Given the description of an element on the screen output the (x, y) to click on. 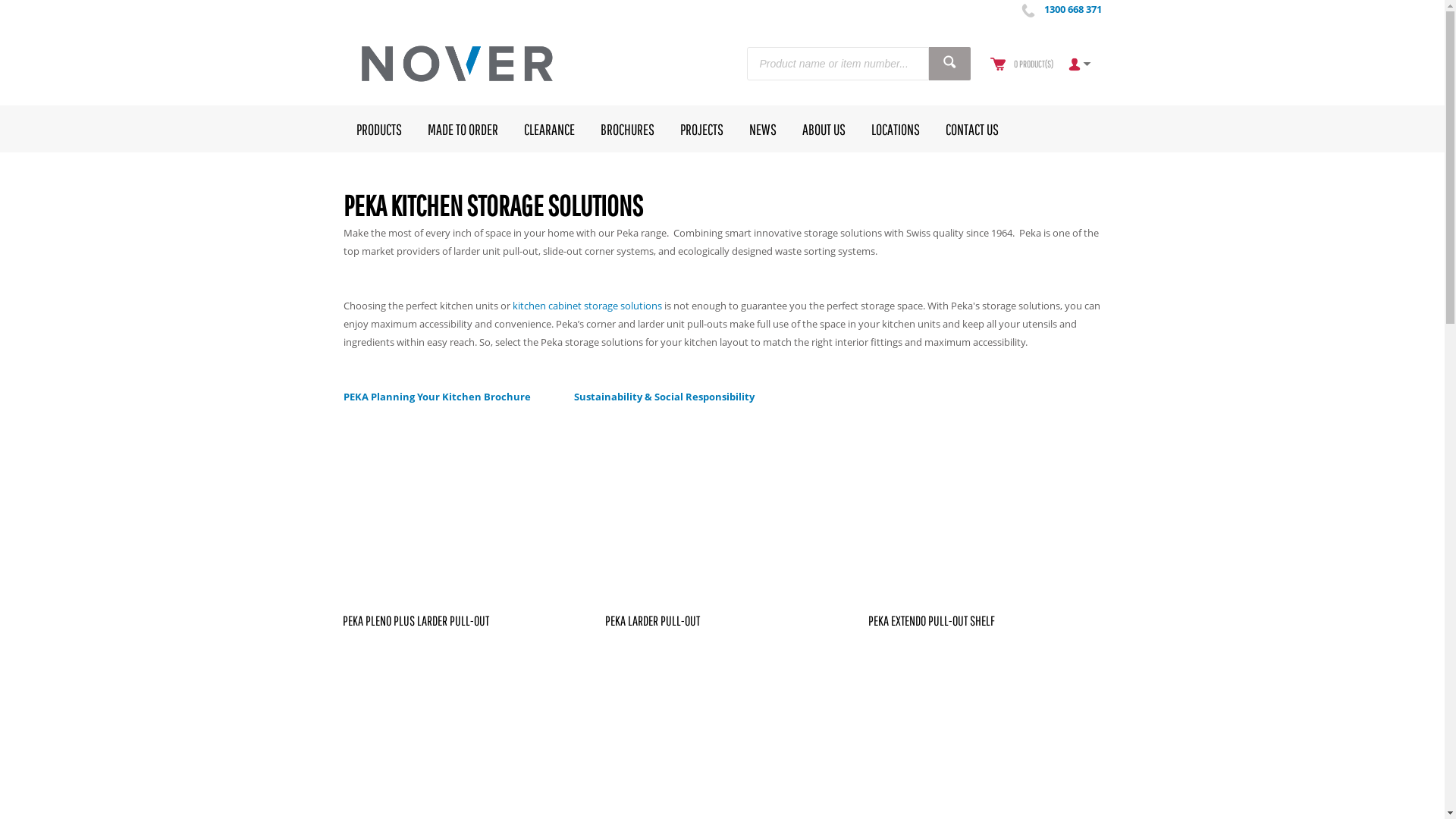
BROCHURES Element type: text (626, 128)
PEKA EXTENDO PULL-OUT SHELF Element type: text (931, 620)
CLEARANCE Element type: text (549, 128)
CONTACT US Element type: text (971, 128)
0 PRODUCT(S) Element type: text (1032, 63)
kitchen cabinet storage solutions Element type: text (587, 305)
ABOUT US Element type: text (822, 128)
PEKA Planning Your Kitchen Brochure Element type: text (436, 396)
PRODUCTS Element type: text (378, 128)
PROJECTS Element type: text (701, 128)
Search products Element type: hover (948, 63)
PEKA LARDER PULL-OUT Element type: text (652, 620)
LOCATIONS Element type: text (895, 128)
Peka Pleno Plus Larder Pull-Out Element type: hover (459, 513)
Peka Larder Pull-Out Element type: hover (721, 513)
NEWS Element type: text (761, 128)
PEKA PLENO PLUS LARDER PULL-OUT Element type: text (415, 620)
Peka Extendo Pull-Out Shelf Element type: hover (984, 513)
1300 668 371 Element type: text (1072, 8)
MADE TO ORDER Element type: text (462, 128)
Sustainability & Social Responsibility Element type: text (663, 396)
